Given the description of an element on the screen output the (x, y) to click on. 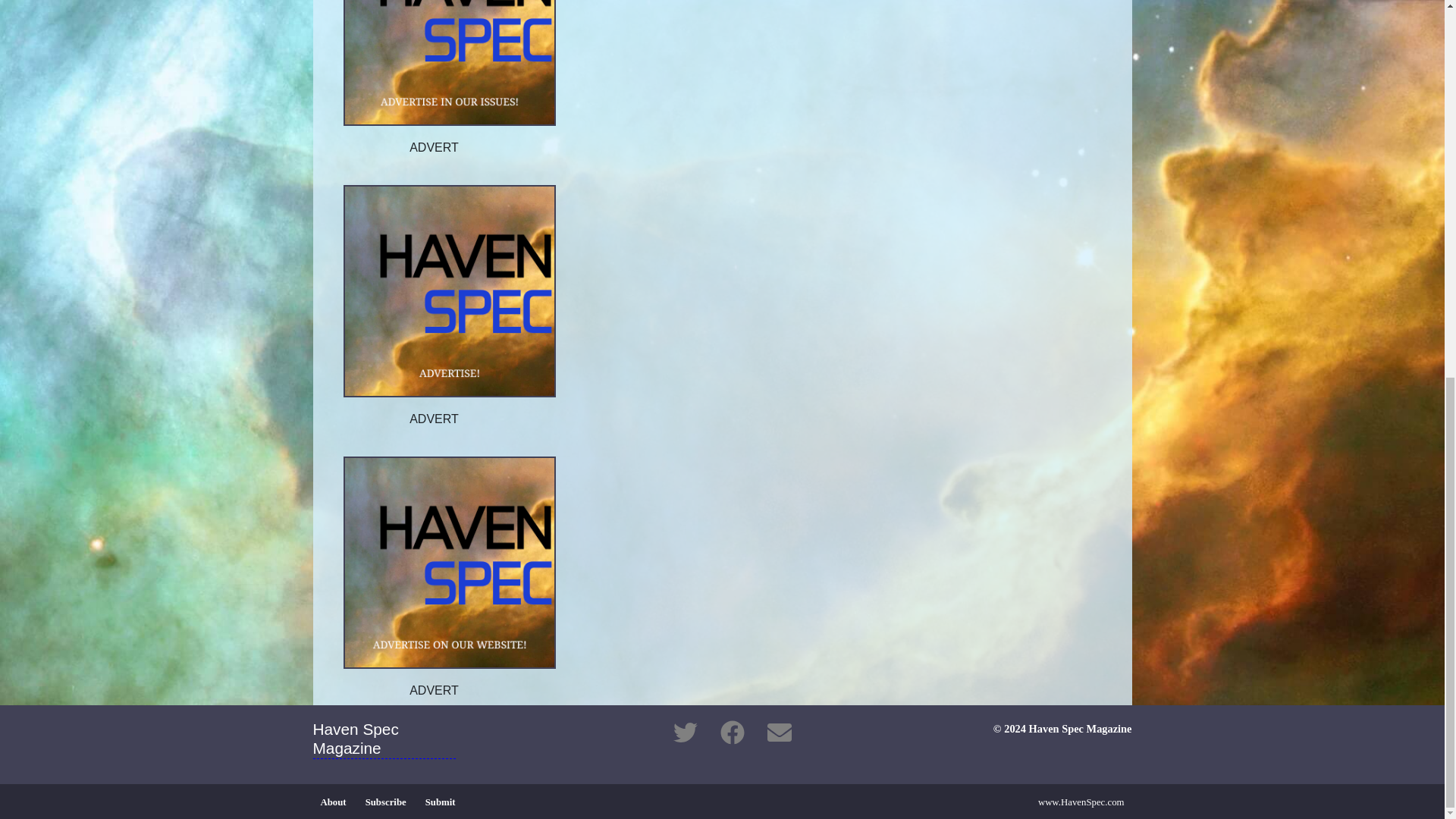
Haven Spec Magazine (391, 742)
Subscribe (385, 801)
Submit (440, 801)
www.HavenSpec.com (1081, 801)
About (333, 801)
